Given the description of an element on the screen output the (x, y) to click on. 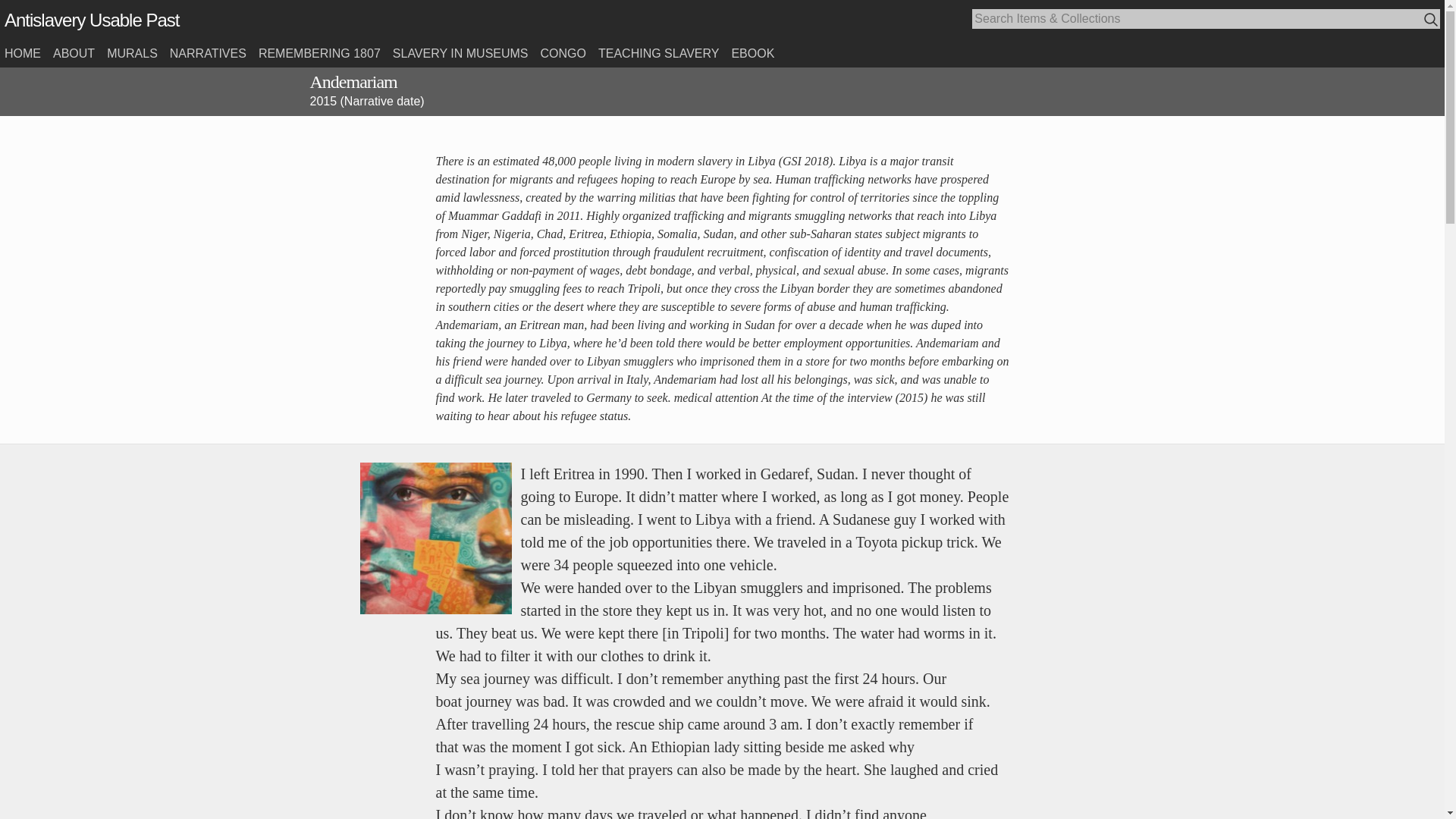
EBOOK (752, 52)
NARRATIVES (208, 52)
TEACHING SLAVERY (658, 52)
Search (1431, 19)
CONGO (563, 52)
Search (1430, 19)
Search (1431, 19)
HOME (22, 52)
ABOUT (73, 52)
REMEMBERING 1807 (319, 52)
Antislavery Usable Past (91, 19)
MURALS (131, 52)
SLAVERY IN MUSEUMS (460, 52)
